Given the description of an element on the screen output the (x, y) to click on. 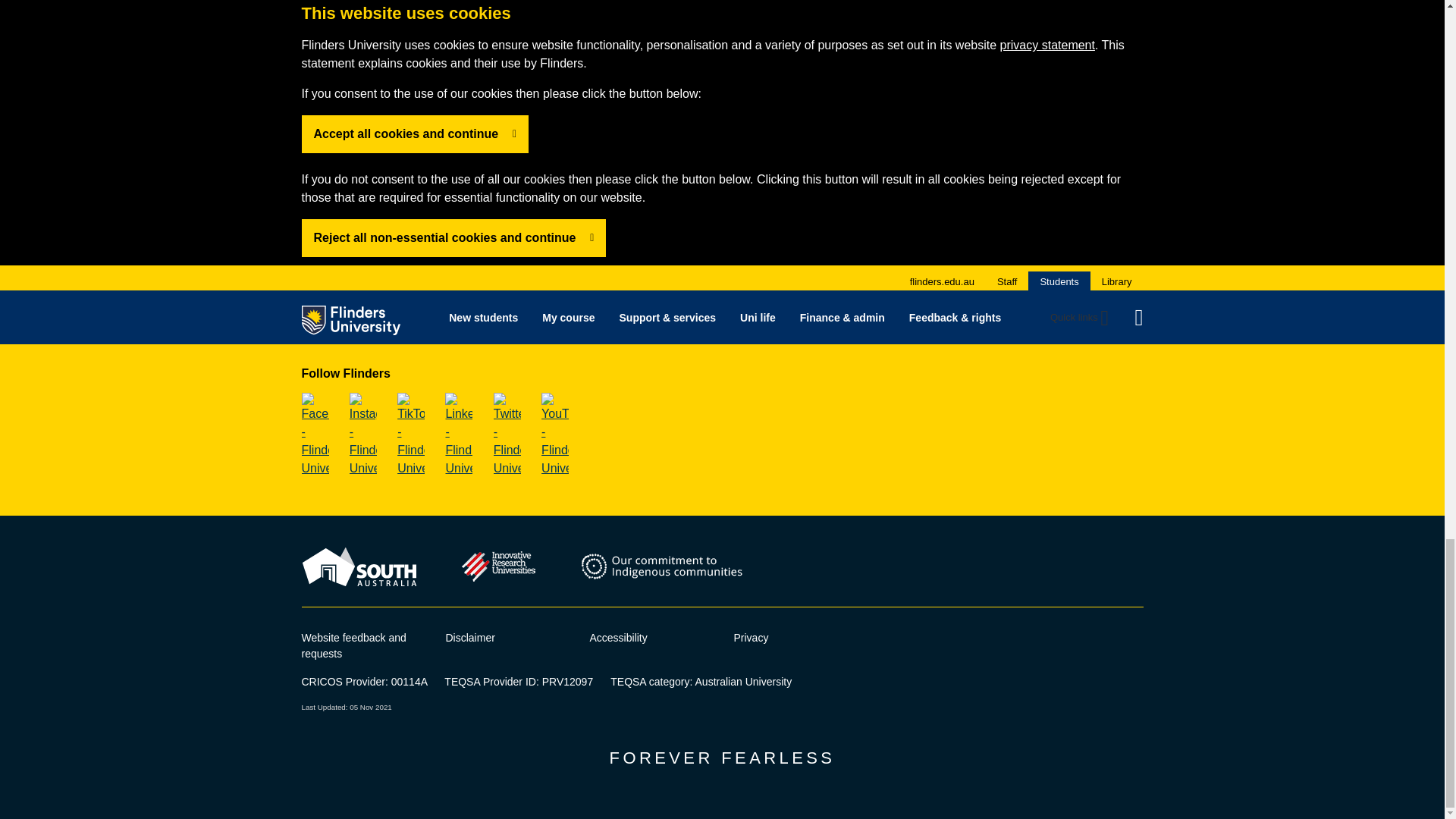
Copyright and disclaimer (470, 637)
Privacy (750, 637)
Accessibility (618, 637)
